Given the description of an element on the screen output the (x, y) to click on. 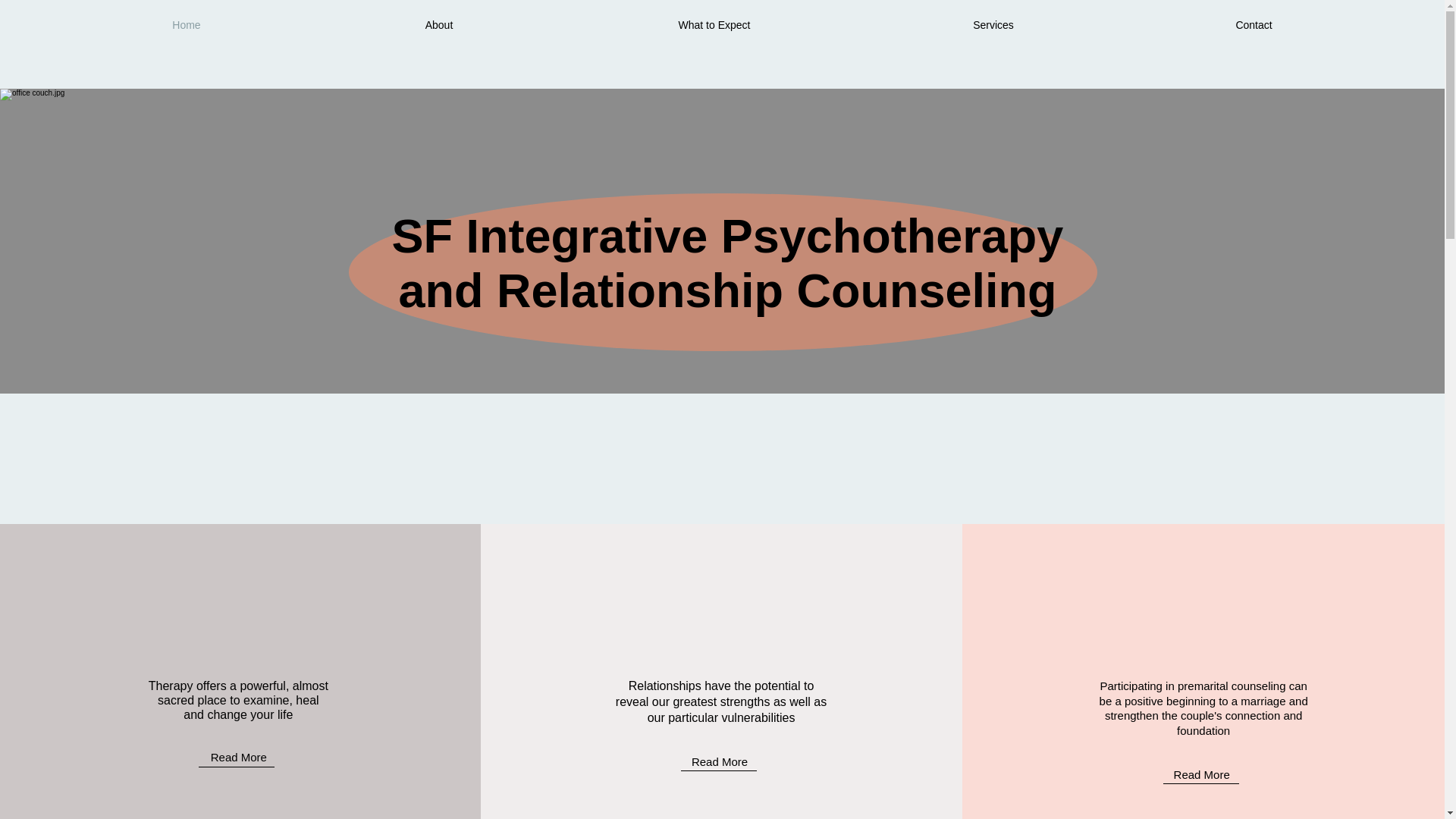
About (439, 24)
Contact (1254, 24)
Read More (1201, 774)
What to Expect (714, 24)
Read More (238, 757)
Home (187, 24)
Services (993, 24)
Read More (719, 761)
